Given the description of an element on the screen output the (x, y) to click on. 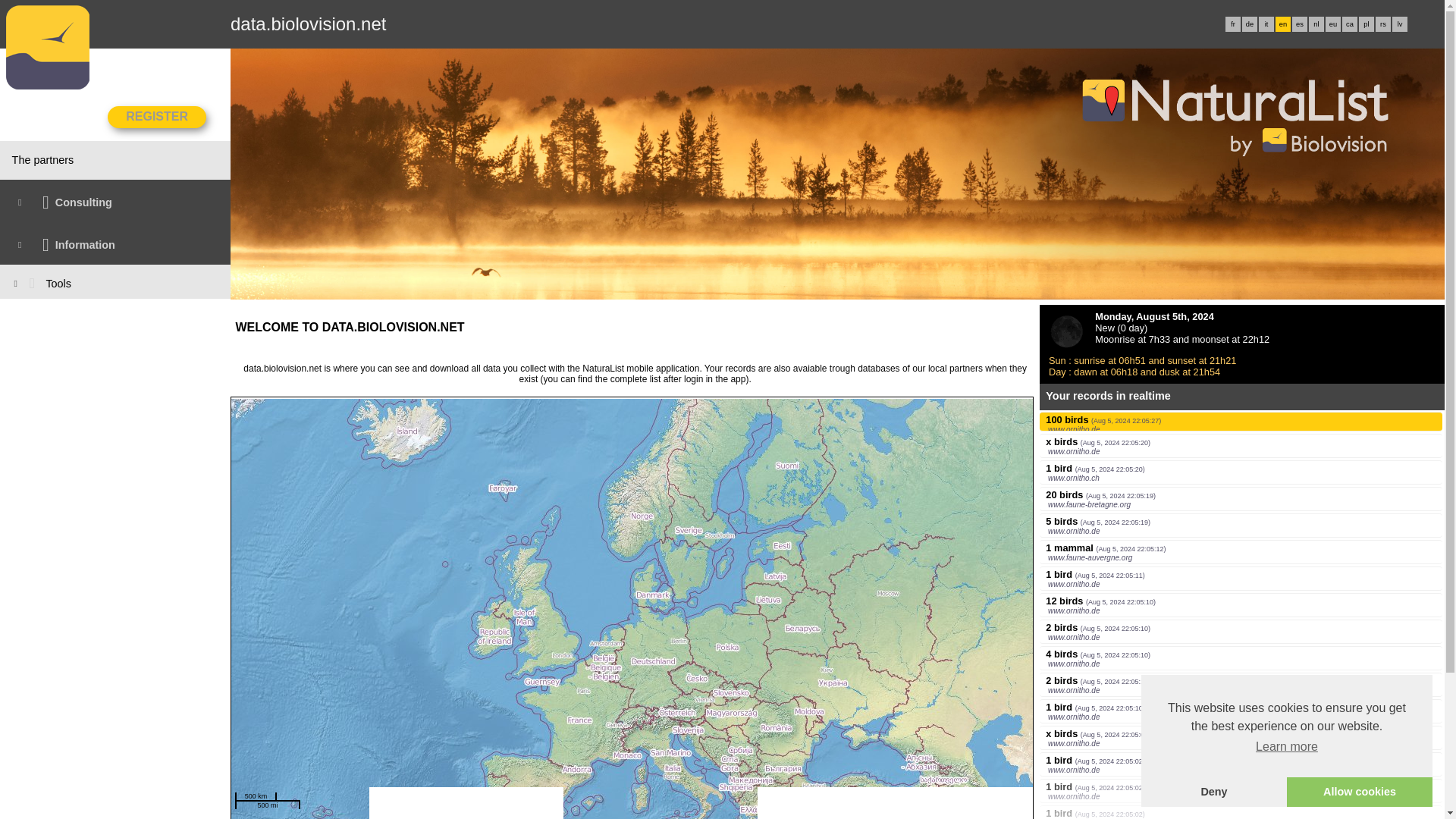
es (1299, 23)
de (1249, 23)
eu (1332, 23)
Allow cookies (1359, 791)
Learn more (1286, 746)
Register (156, 116)
ca (1349, 23)
Deny (1214, 791)
Register (156, 116)
